Given the description of an element on the screen output the (x, y) to click on. 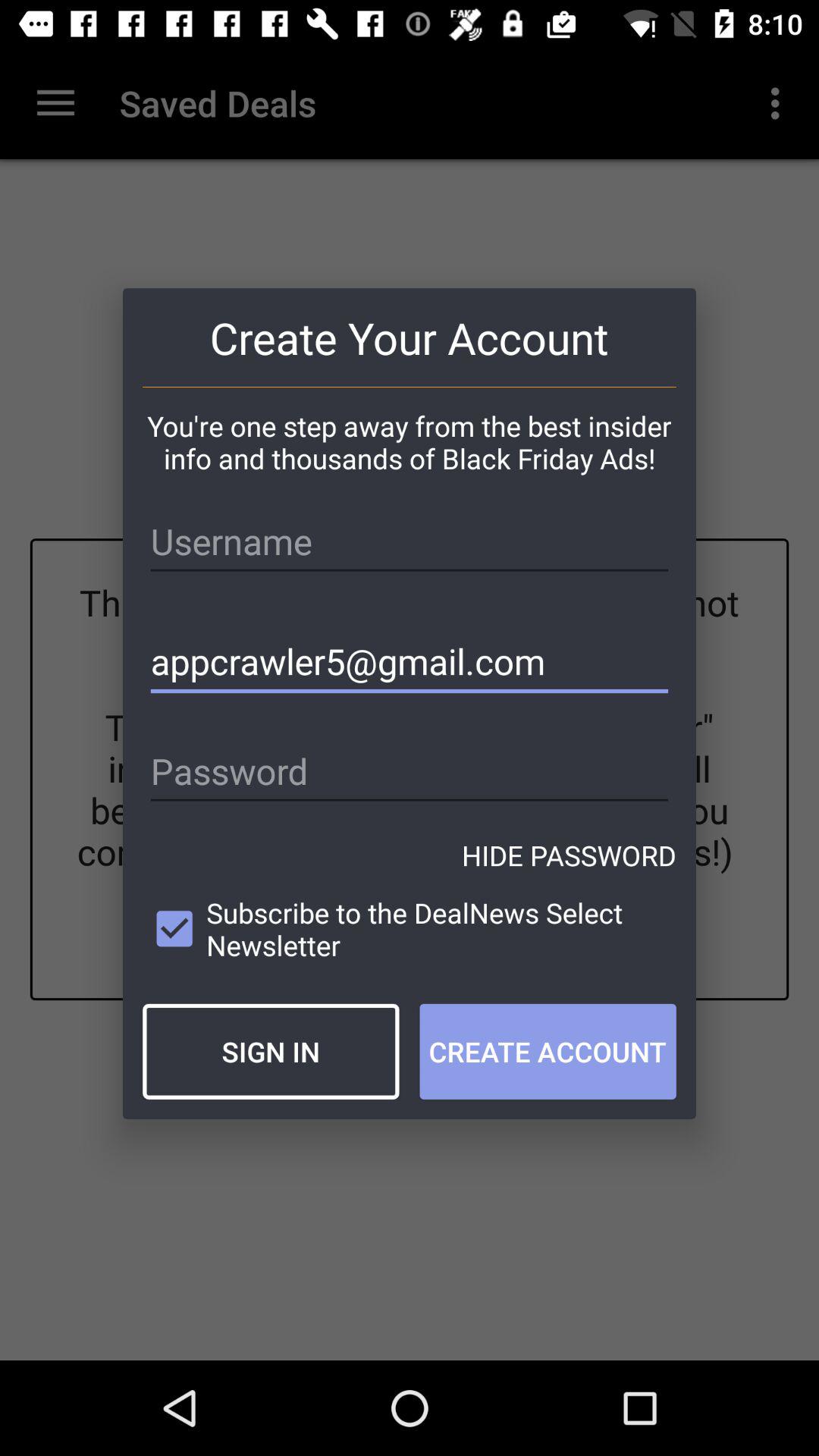
open the icon at the bottom left corner (270, 1051)
